Given the description of an element on the screen output the (x, y) to click on. 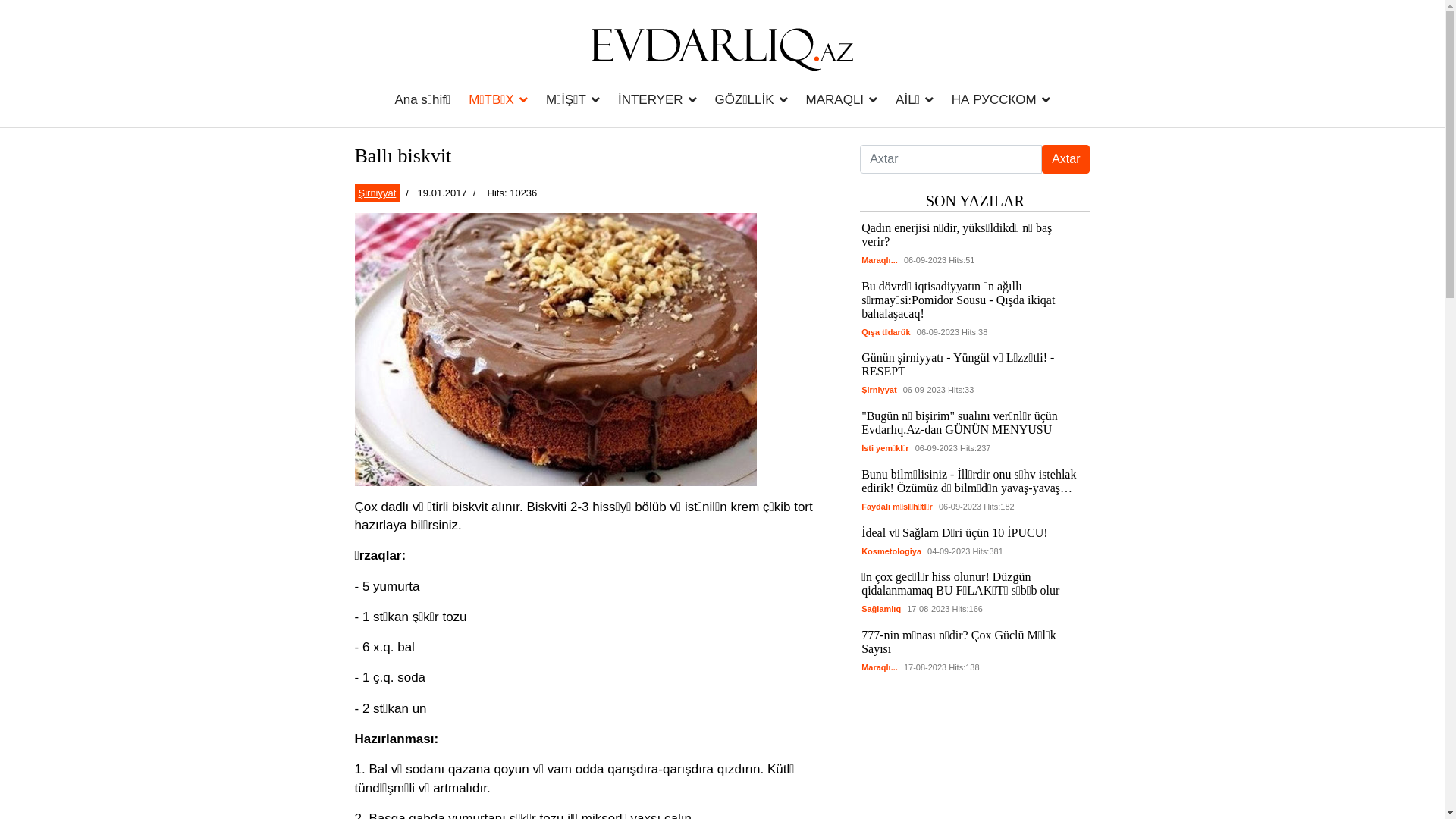
Axtar Element type: text (1065, 158)
Kosmetologiya Element type: text (893, 551)
MARAQLI Element type: text (842, 98)
